Given the description of an element on the screen output the (x, y) to click on. 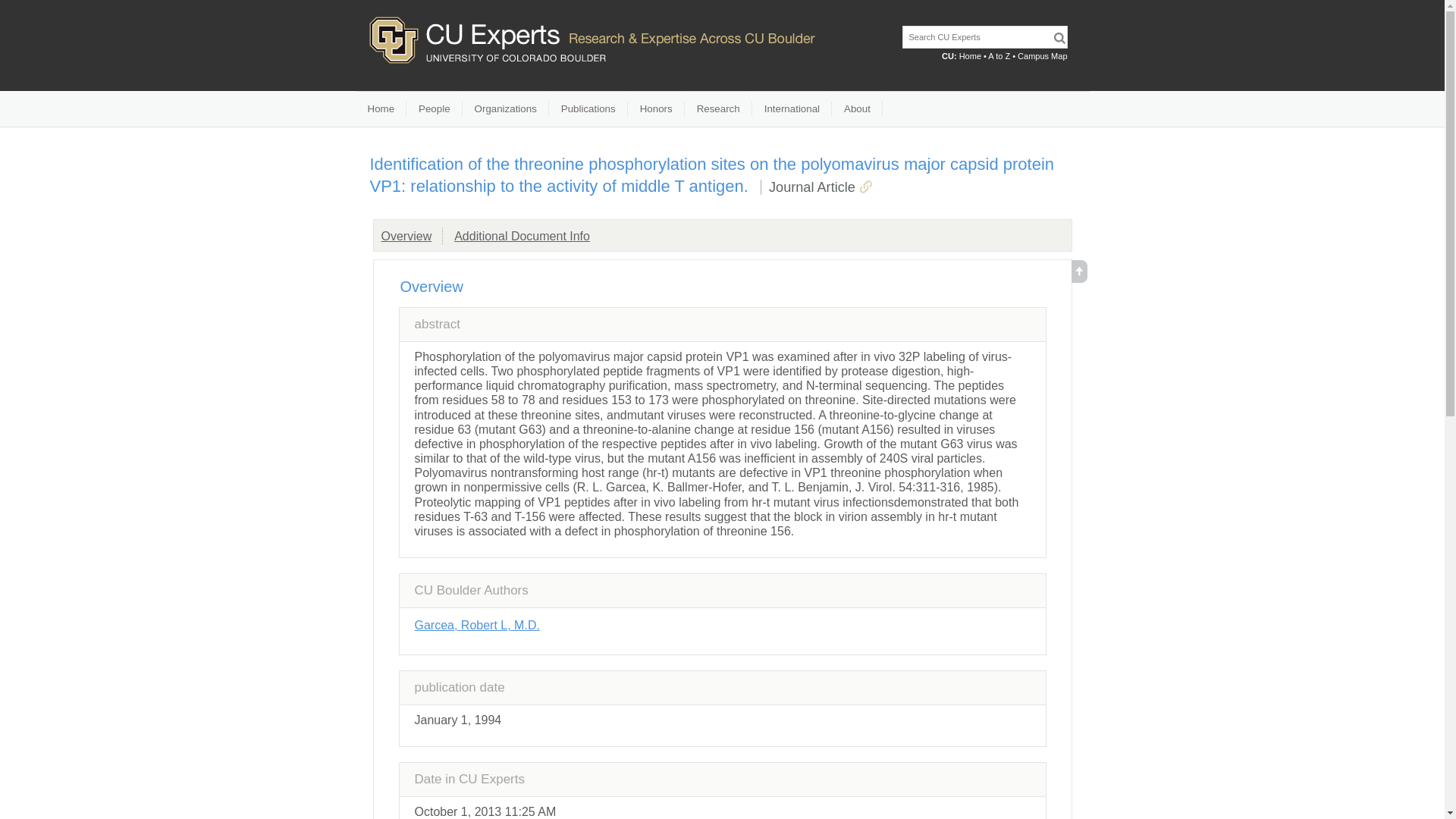
A to Z (999, 55)
menu item (505, 108)
Additional Document Info (521, 236)
Honors (655, 108)
Home (970, 55)
scroll to property group menus (1078, 278)
menu item (718, 108)
group name (405, 236)
People (434, 108)
menu item (655, 108)
Search (1059, 37)
Organizations (505, 108)
International (791, 108)
menu item (587, 108)
menu item (380, 108)
